Given the description of an element on the screen output the (x, y) to click on. 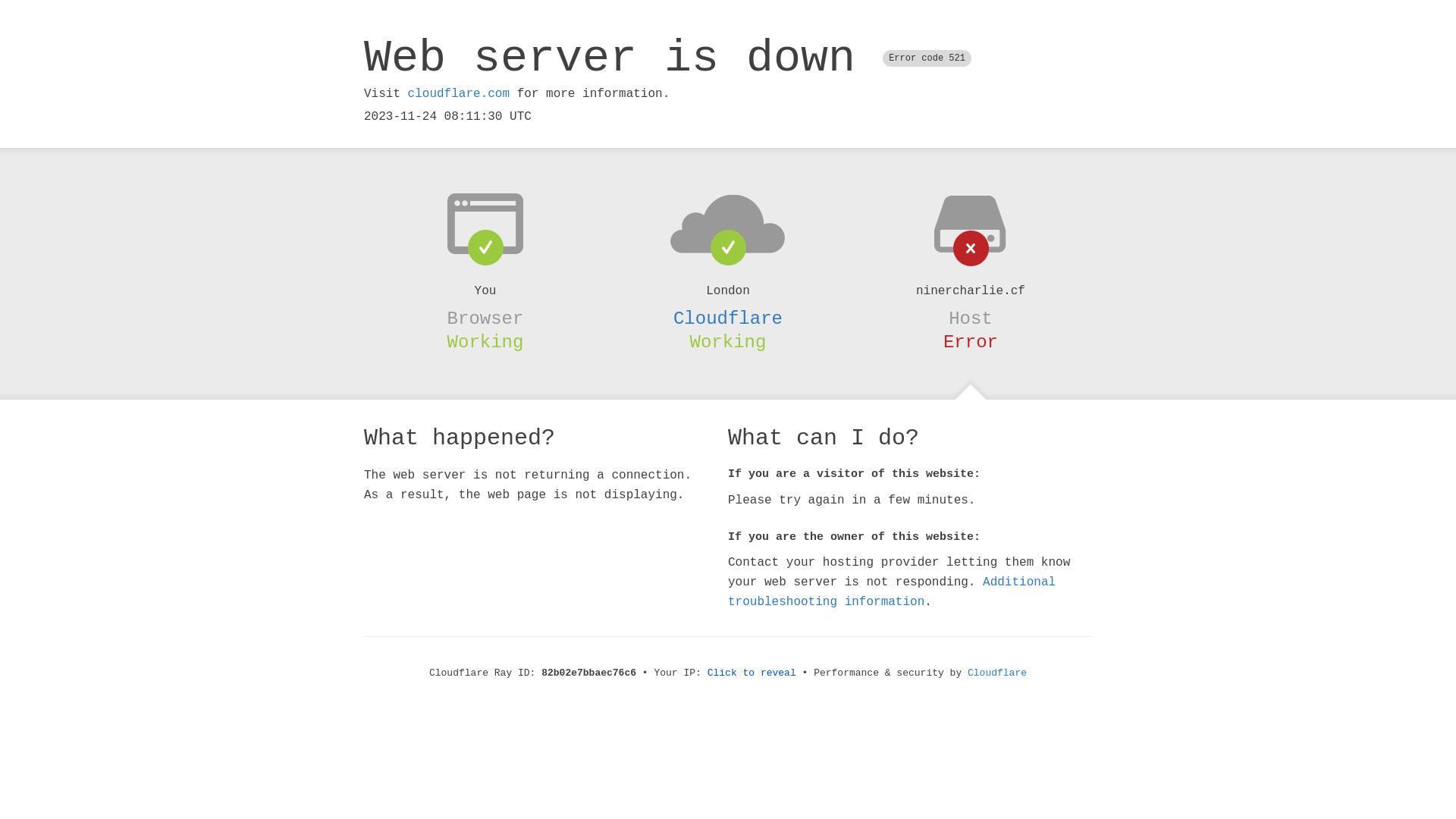
Additional troubleshooting information Element type: text (891, 591)
cloudflare.com Element type: text (458, 93)
Click to reveal Element type: text (751, 672)
Cloudflare Element type: text (996, 672)
Cloudflare Element type: text (727, 318)
